Given the description of an element on the screen output the (x, y) to click on. 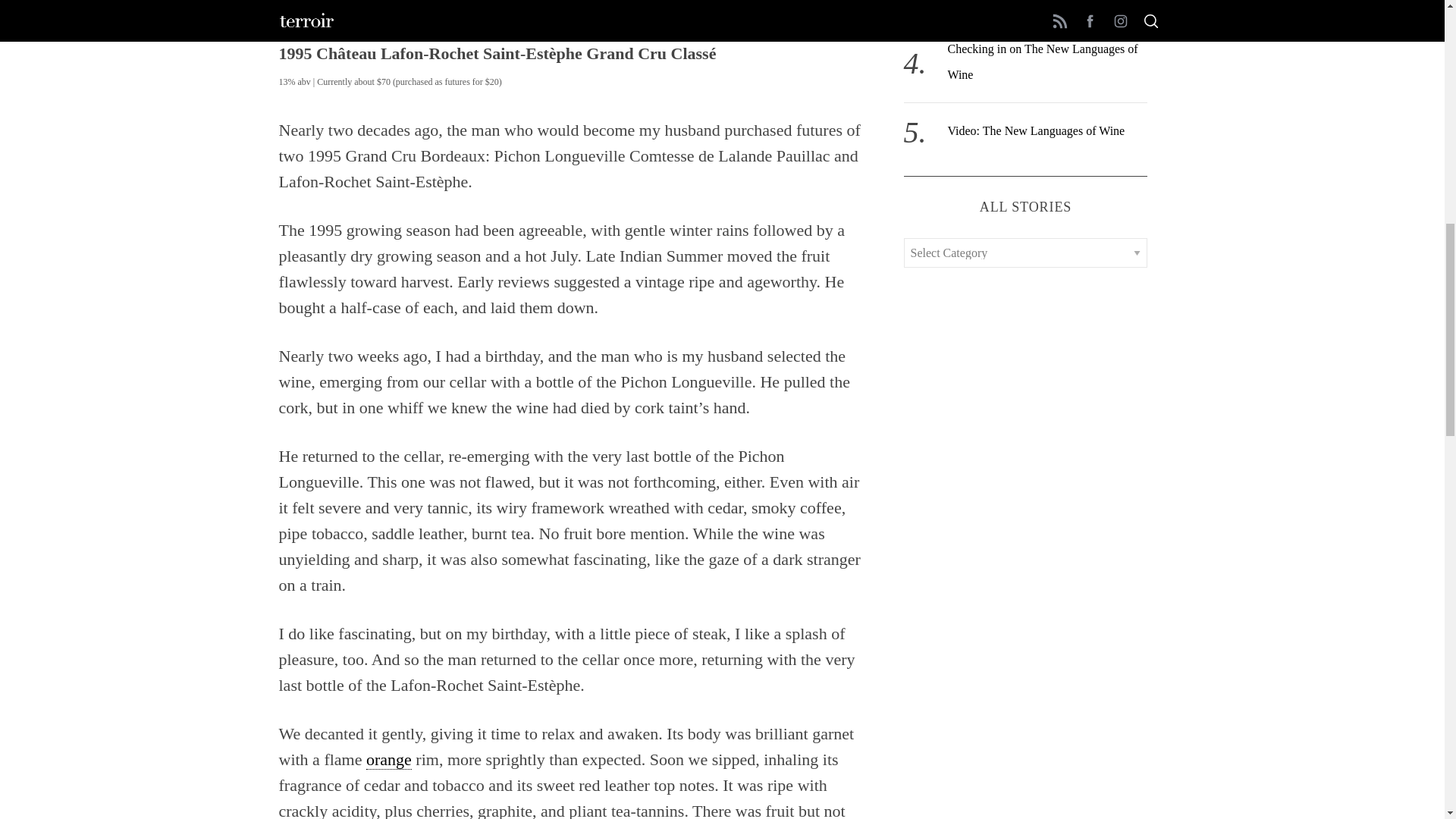
orange (389, 759)
